Given the description of an element on the screen output the (x, y) to click on. 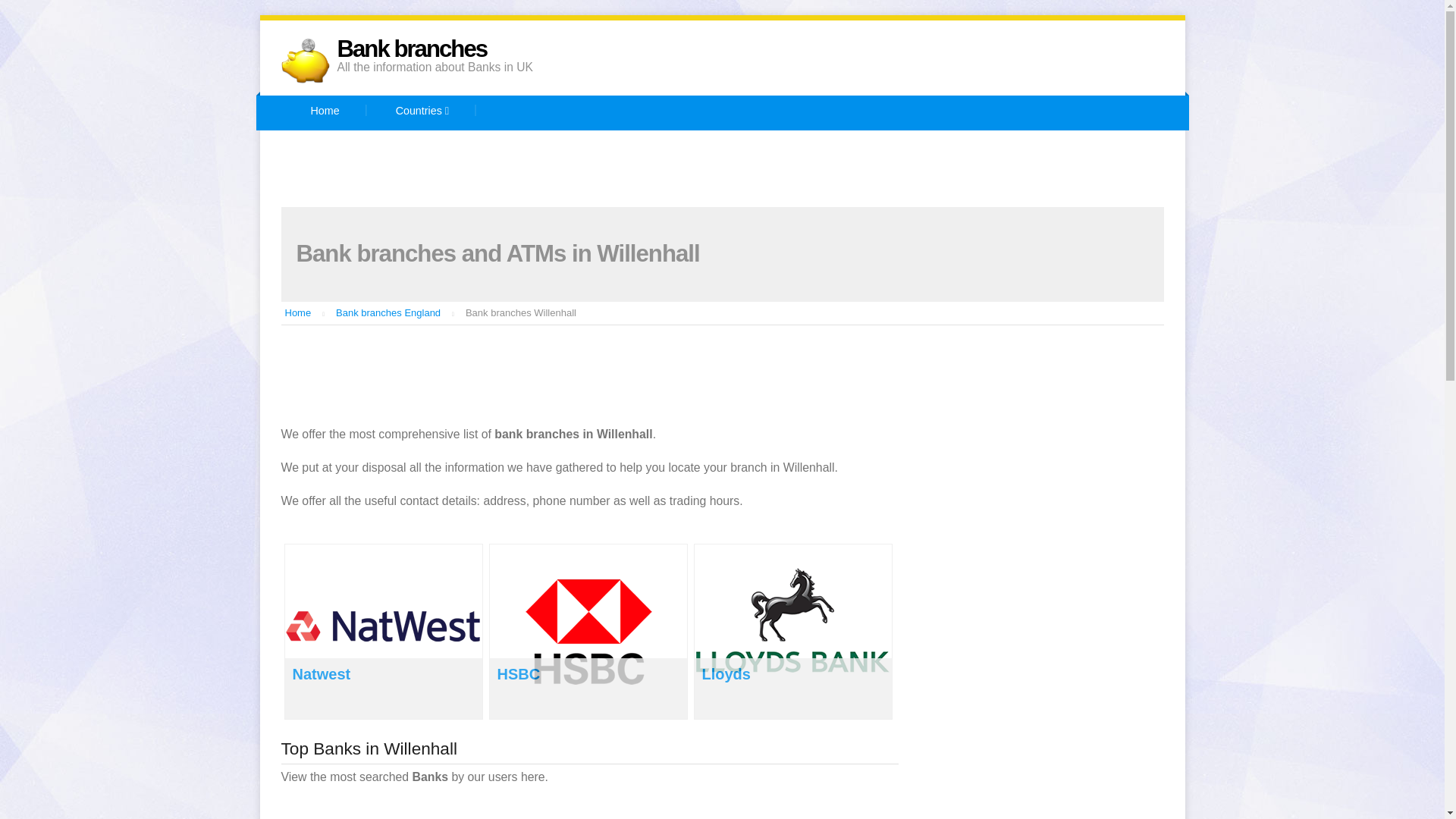
Halifax (789, 149)
Nationwide (1063, 149)
Clydesdale Bank (676, 149)
Natwest (356, 187)
Clydesdale Bank (676, 149)
Natwest (356, 187)
HSBC (877, 149)
Lloyds (726, 673)
Royal Bank Of Scotland (489, 187)
Natwest (321, 673)
